Given the description of an element on the screen output the (x, y) to click on. 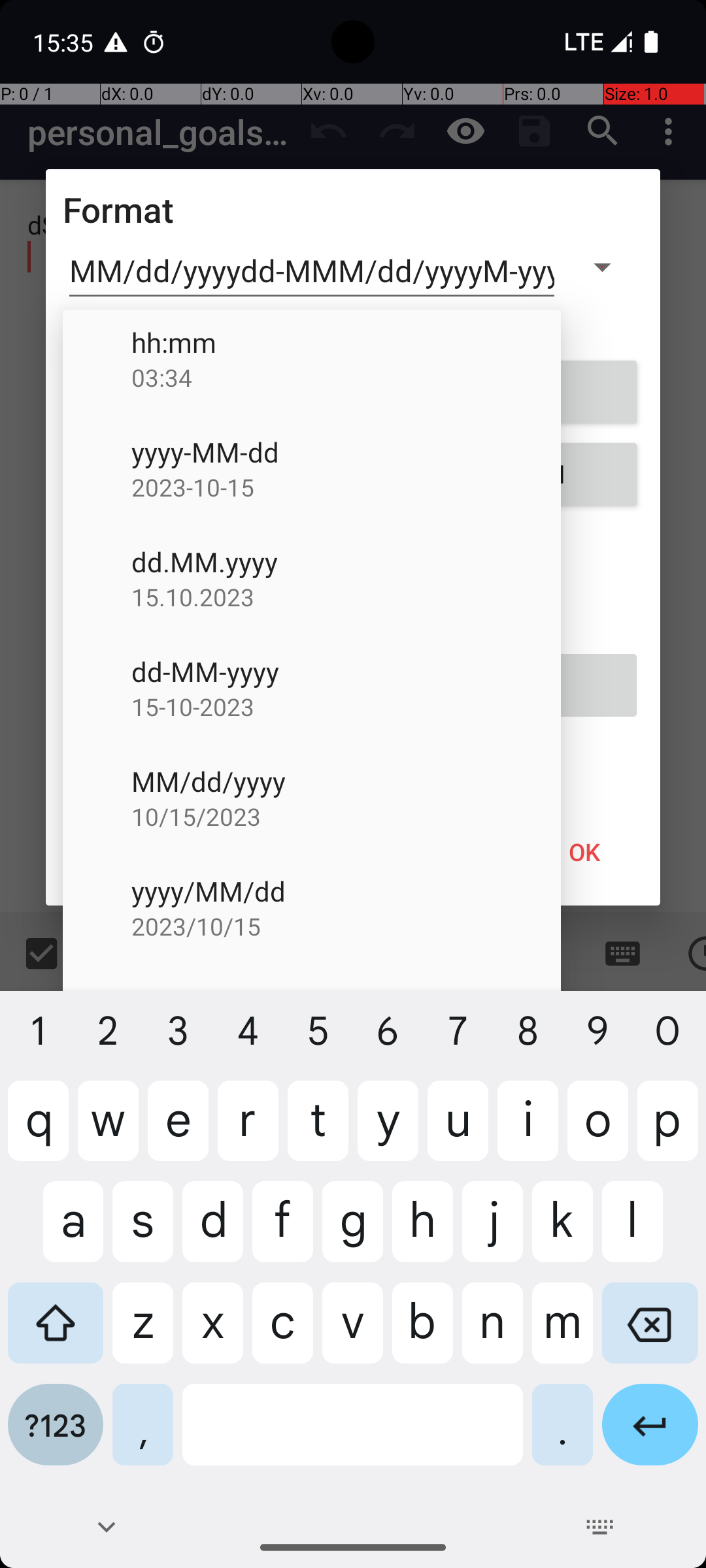
hh:mm Element type: android.widget.TextView (345, 341)
03:34 Element type: android.widget.TextView (345, 376)
yyyy-MM-dd Element type: android.widget.TextView (345, 451)
2023-10-15 Element type: android.widget.TextView (345, 486)
dd.MM.yyyy Element type: android.widget.TextView (345, 561)
15.10.2023 Element type: android.widget.TextView (345, 596)
dd-MM-yyyy Element type: android.widget.TextView (345, 670)
15-10-2023 Element type: android.widget.TextView (345, 706)
MM/dd/yyyy Element type: android.widget.TextView (345, 780)
10/15/2023 Element type: android.widget.TextView (345, 816)
yyyy/MM/dd Element type: android.widget.TextView (345, 890)
2023/10/15 Element type: android.widget.TextView (345, 925)
MMM yyyy Element type: android.widget.TextView (345, 1000)
